Given the description of an element on the screen output the (x, y) to click on. 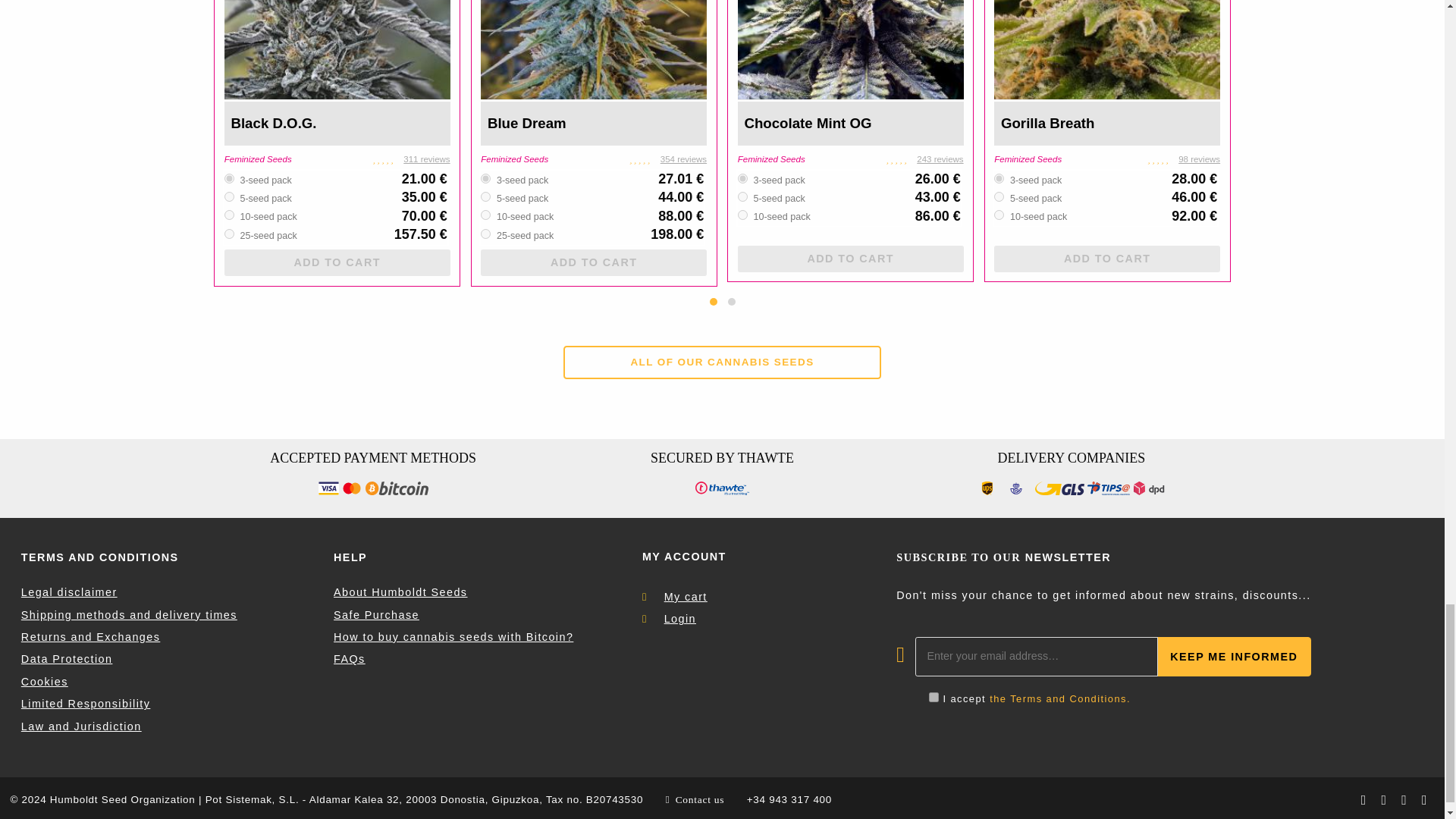
HS0149 (485, 234)
HS0160 (999, 178)
HS0131 (743, 196)
HS0016 (485, 178)
HS0161 (999, 196)
on (933, 696)
HS0146 (229, 196)
HS0148 (229, 234)
HS0132 (743, 214)
HS0147 (229, 178)
HS0162 (999, 214)
HS0130 (743, 178)
HS0018 (485, 214)
HS0145 (229, 214)
HS0017 (485, 196)
